Given the description of an element on the screen output the (x, y) to click on. 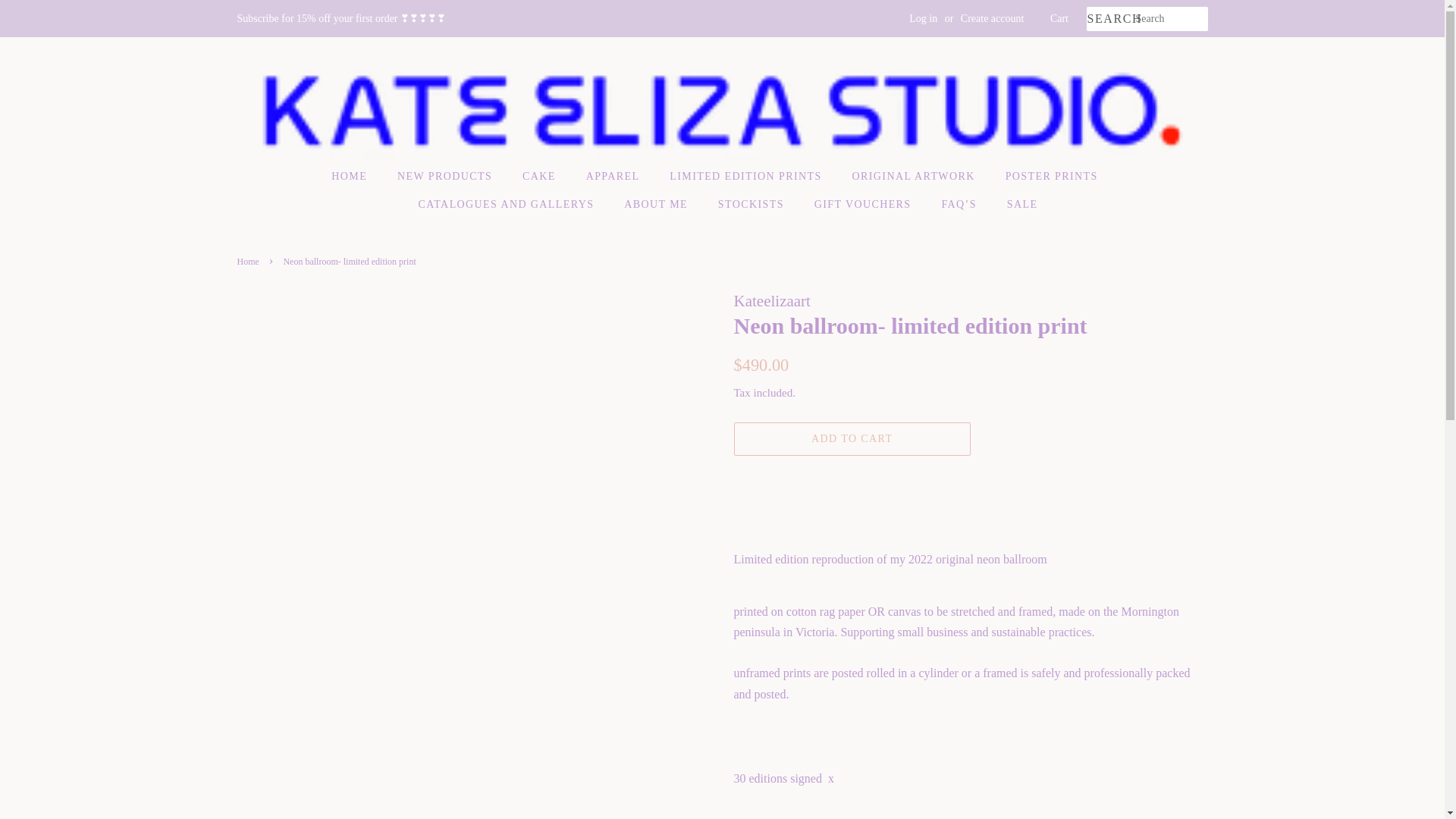
CATALOGUES AND GALLERYS (508, 204)
Cart (1058, 18)
ABOUT ME (657, 204)
APPAREL (615, 176)
CAKE (540, 176)
LIMITED EDITION PRINTS (746, 176)
POSTER PRINTS (1053, 176)
NEW PRODUCTS (445, 176)
HOME (356, 176)
ORIGINAL ARTWORK (915, 176)
